Given the description of an element on the screen output the (x, y) to click on. 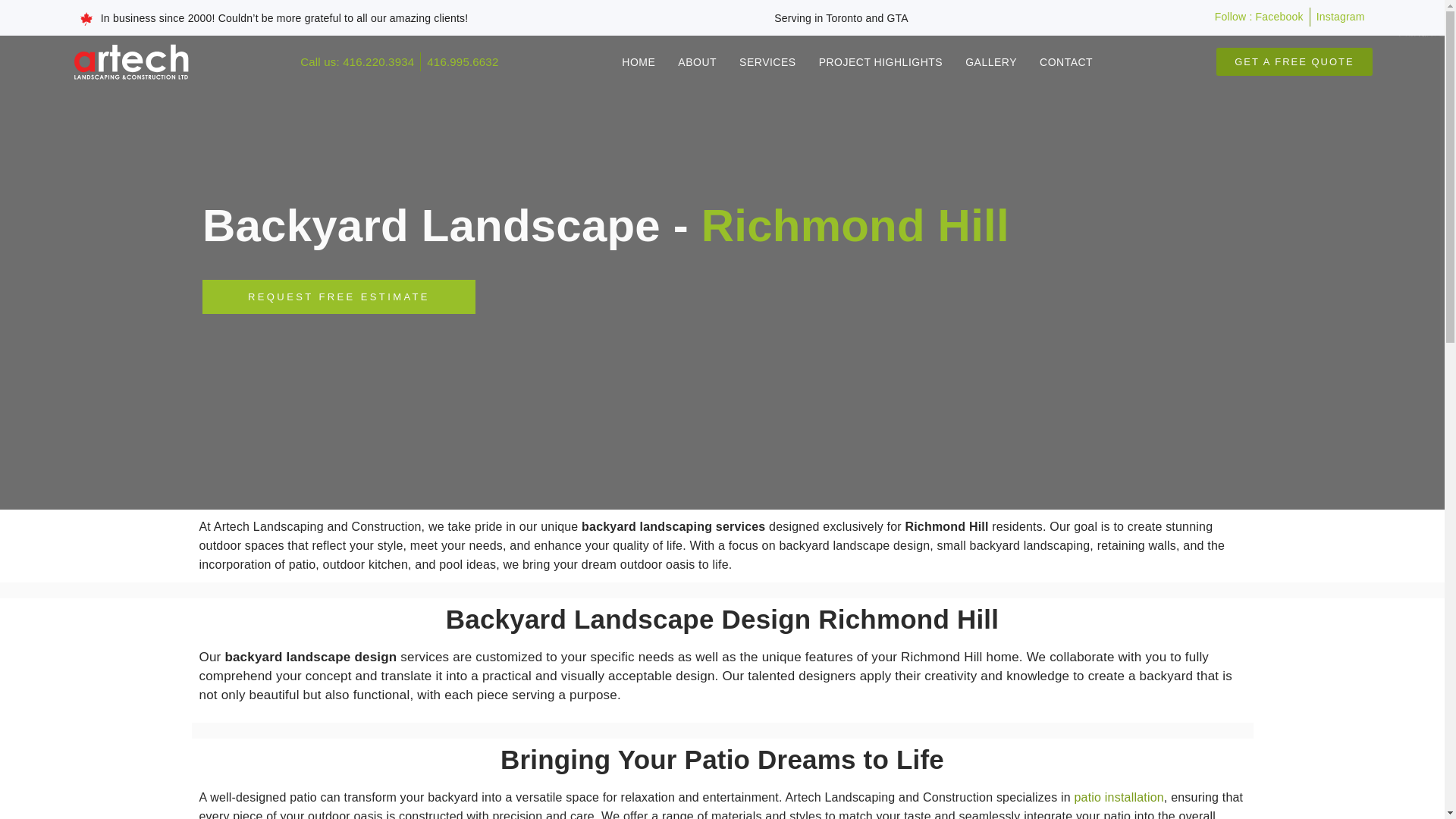
SERVICES (766, 62)
Follow : Facebook (1258, 16)
ABOUT (697, 62)
Instagram (1340, 16)
HOME (638, 62)
PROJECT HIGHLIGHTS (880, 62)
GALLERY (991, 62)
CONTACT (1066, 62)
416.995.6632 (461, 61)
Call us: 416.220.3934 (356, 61)
